Given the description of an element on the screen output the (x, y) to click on. 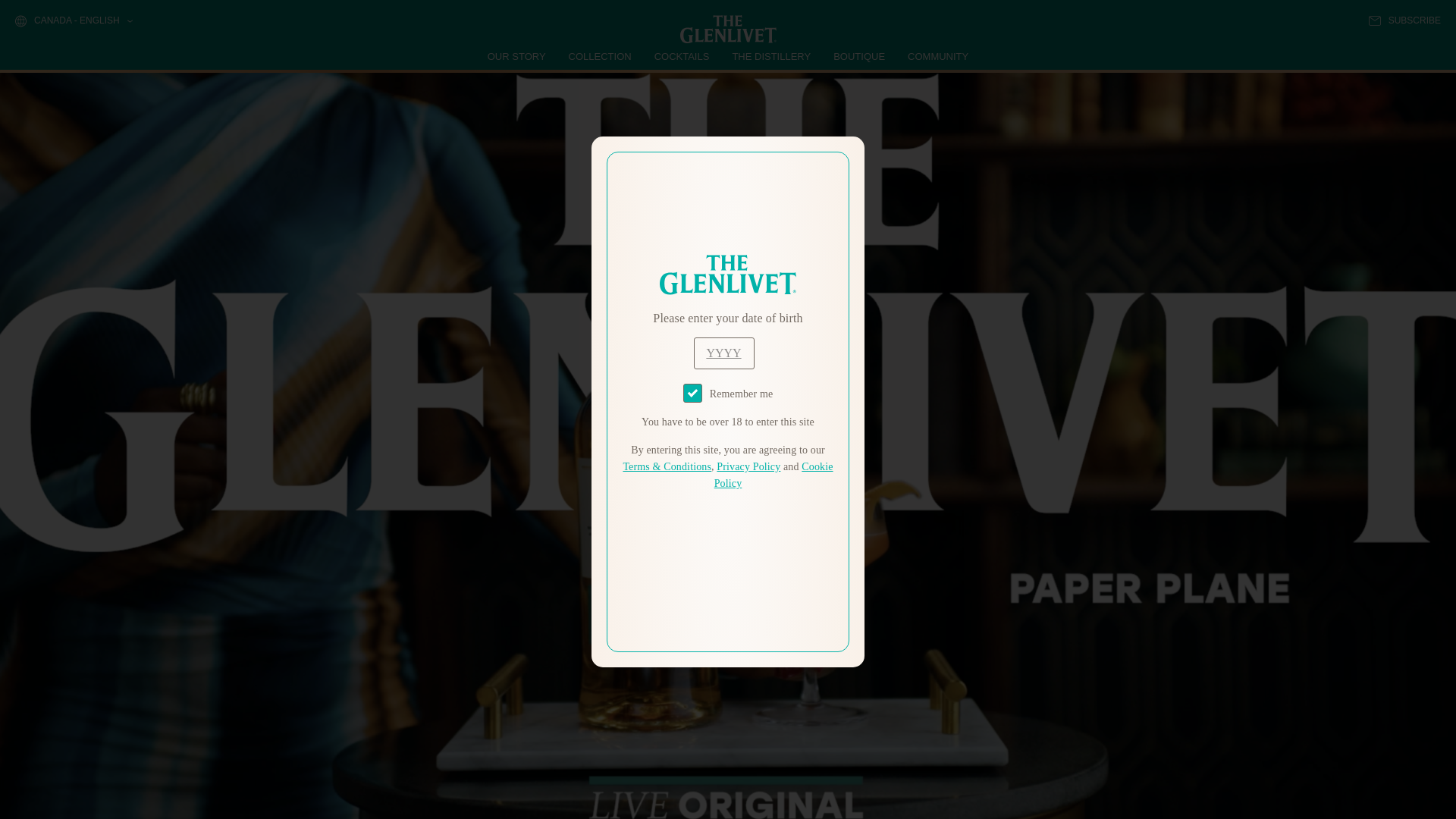
COLLECTION (600, 56)
COMMUNITY (937, 56)
Cookie Policy (773, 474)
Privacy Policy (748, 466)
COCKTAILS (681, 56)
BOUTIQUE (858, 56)
year (723, 353)
OUR STORY (516, 56)
SUBSCRIBE (1404, 20)
THE DISTILLERY (771, 56)
CANADA - ENGLISH (73, 21)
